Given the description of an element on the screen output the (x, y) to click on. 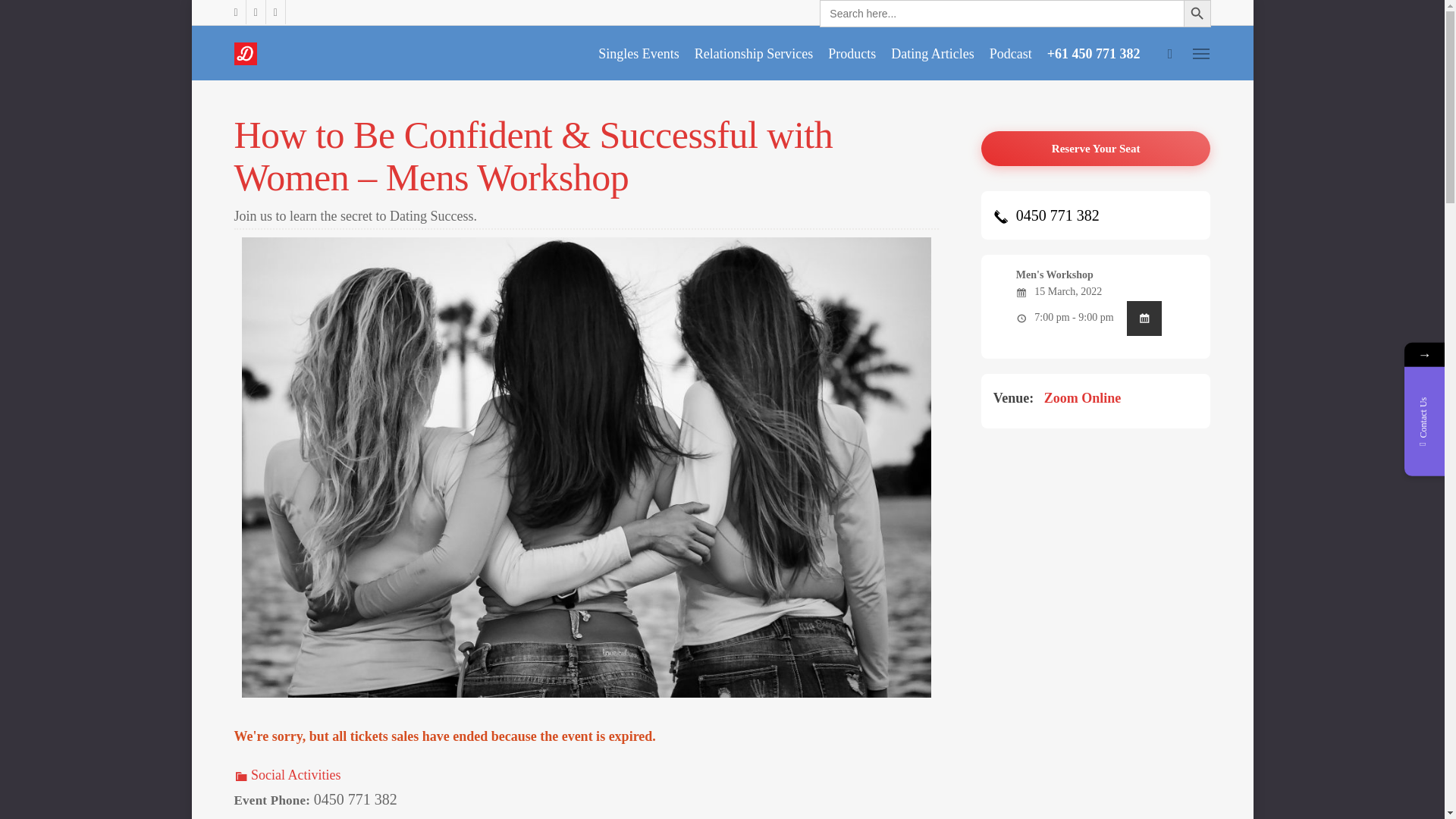
Podcast (1010, 53)
Singles Events (639, 53)
Dating Articles (932, 53)
Relationship Services (754, 53)
Zoom Online (1082, 397)
Search Button (1195, 13)
0450 771 382 (1045, 215)
Social Activities (286, 774)
Add to iCal Calendar (1143, 318)
Products (852, 53)
Reserve Your Seat (1096, 148)
